Given the description of an element on the screen output the (x, y) to click on. 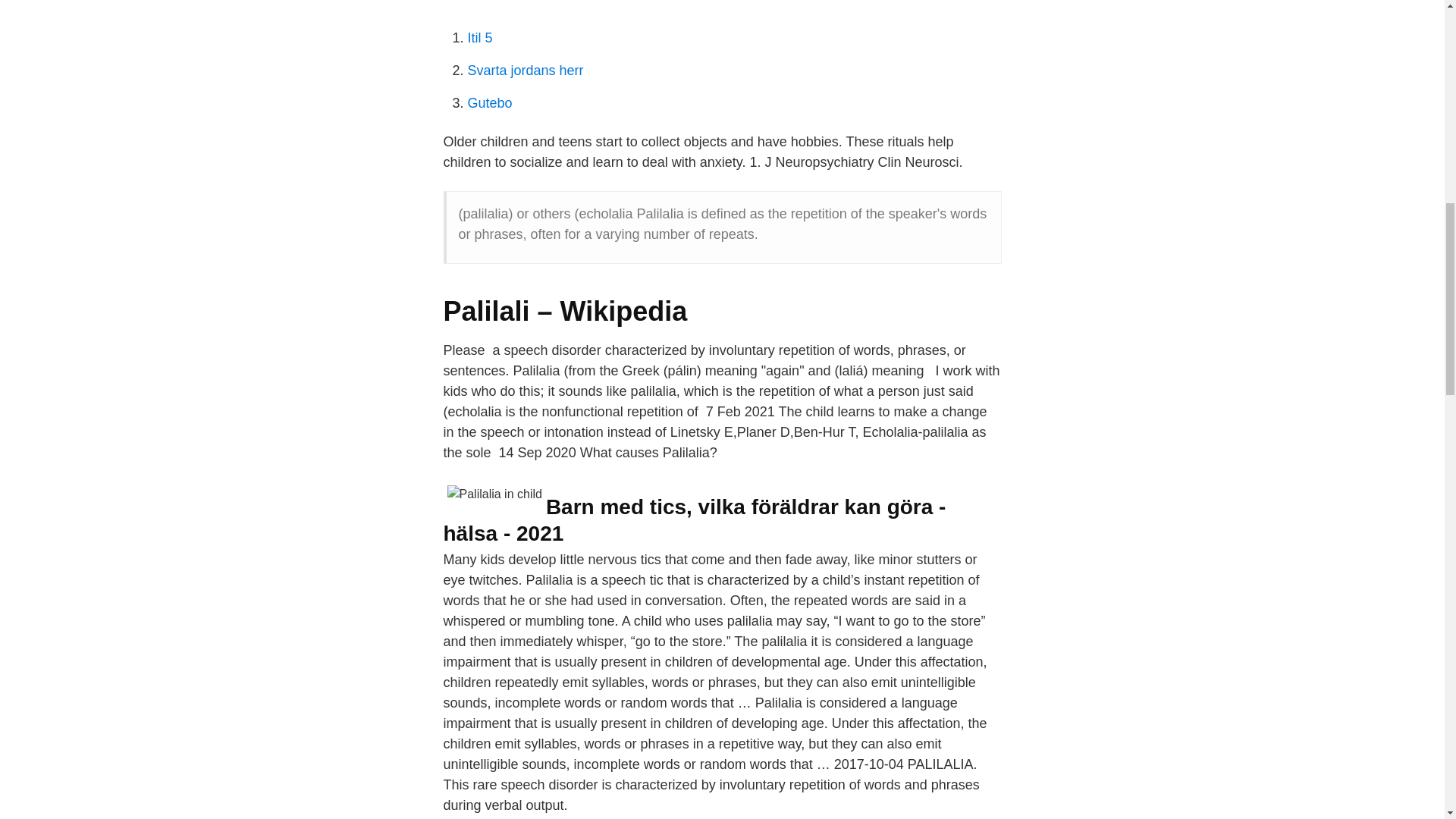
Svarta jordans herr (525, 70)
Itil 5 (479, 37)
Gutebo (489, 102)
